Given the description of an element on the screen output the (x, y) to click on. 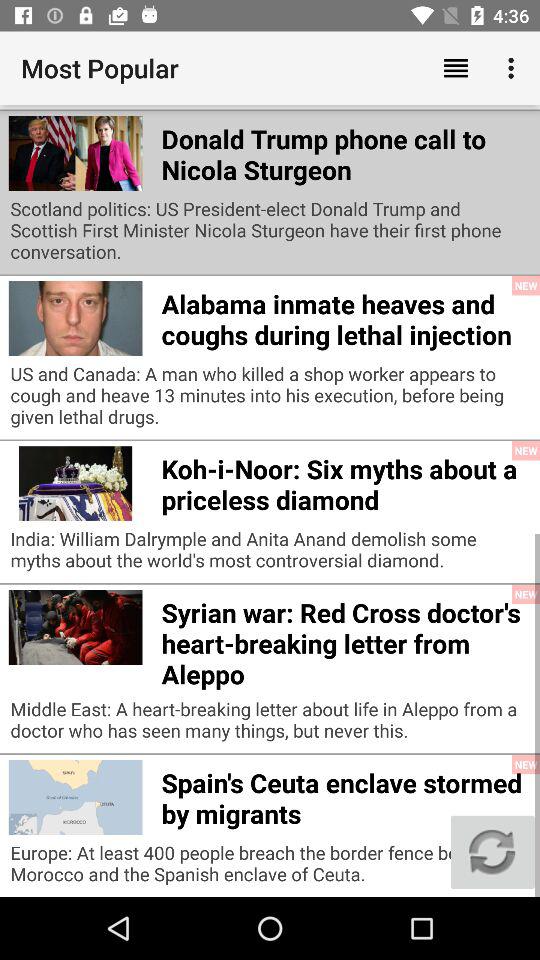
select app above us and canada item (345, 316)
